Given the description of an element on the screen output the (x, y) to click on. 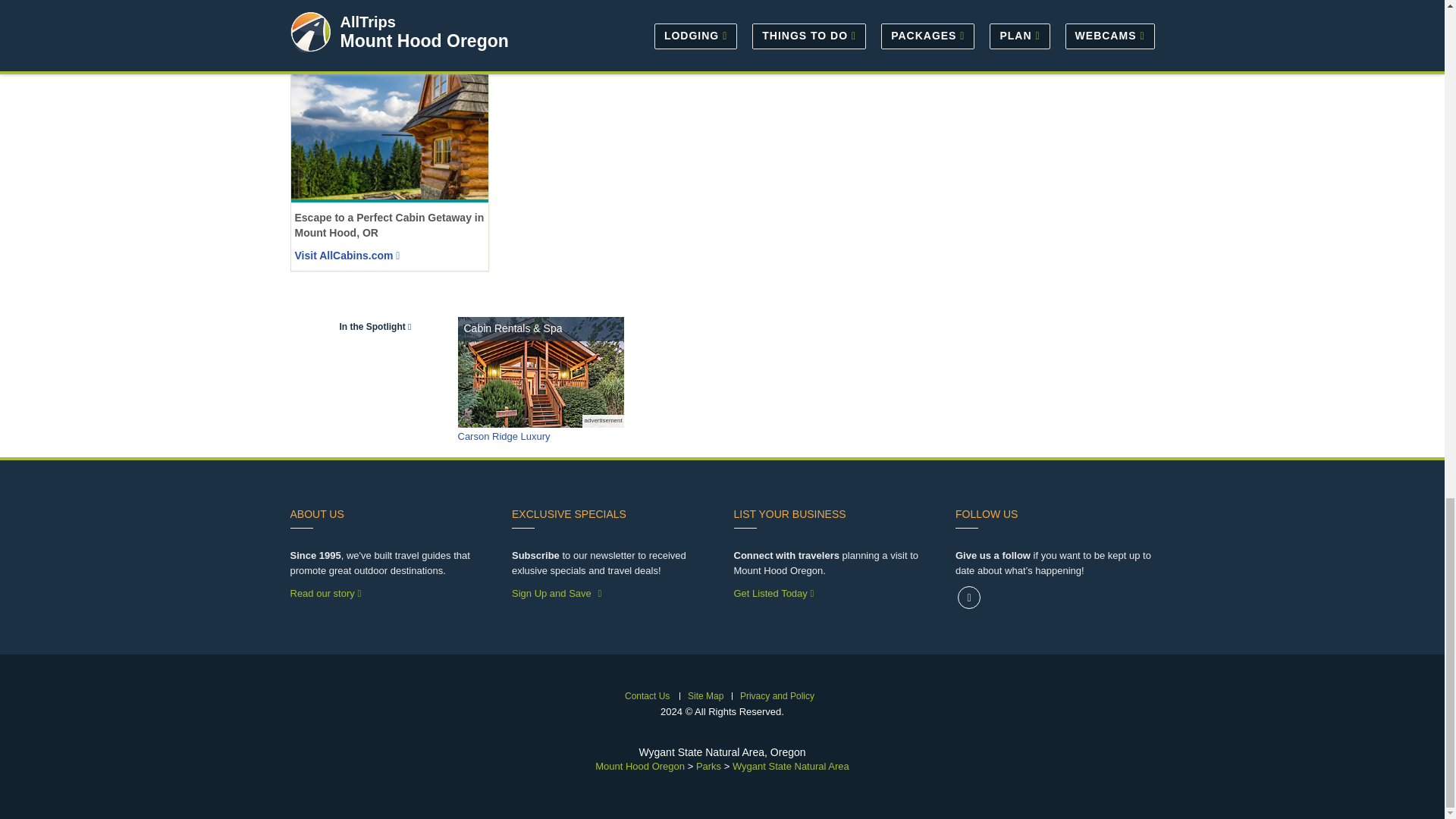
Parks (707, 766)
Wygant State Natural Area (790, 766)
Mount Hood Oregon (639, 766)
